Given the description of an element on the screen output the (x, y) to click on. 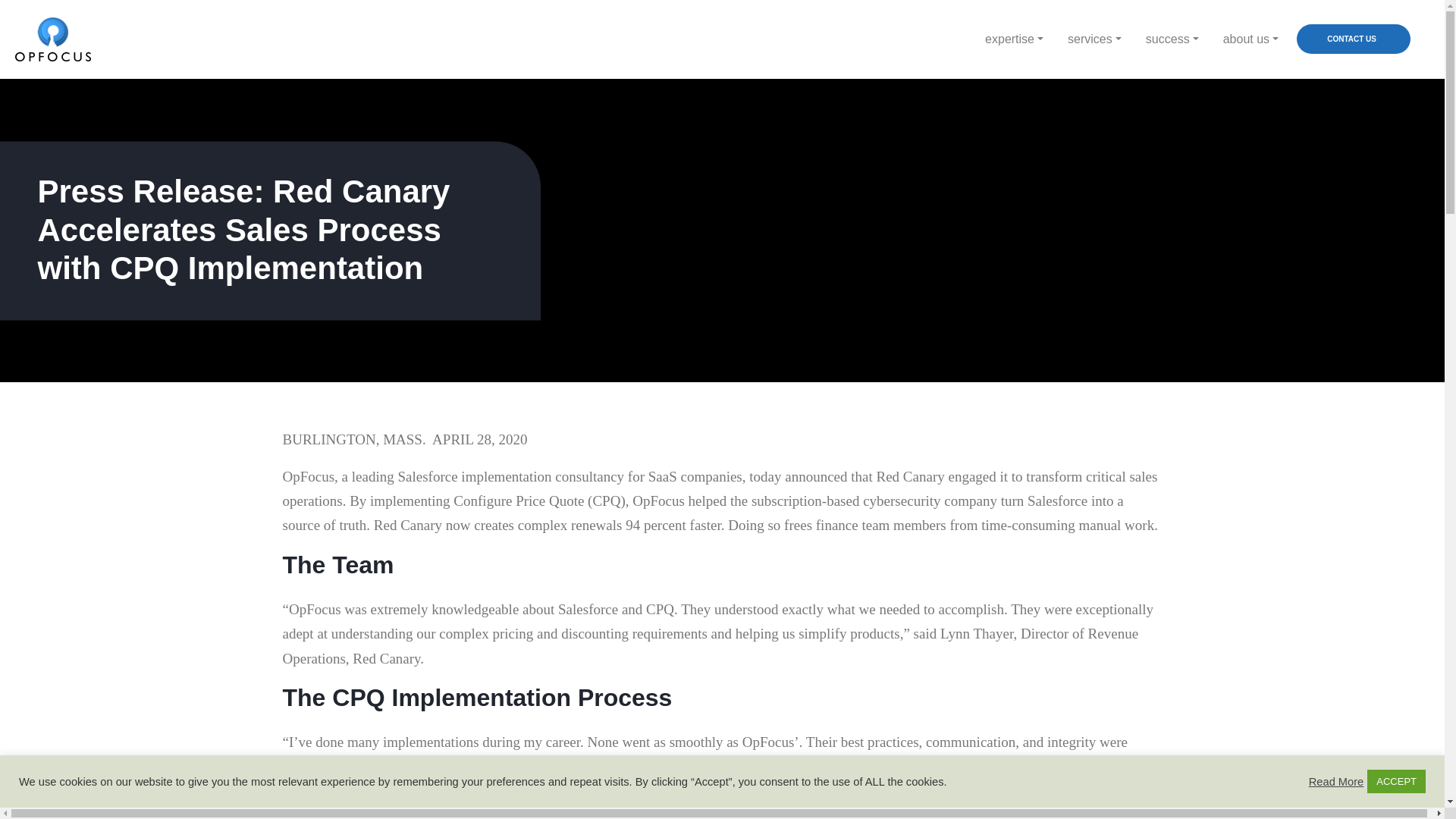
CONTACT US (1353, 39)
success (1172, 39)
Expertise (1013, 39)
Services (1094, 39)
about us (1250, 39)
services (1094, 39)
expertise (1013, 39)
